Given the description of an element on the screen output the (x, y) to click on. 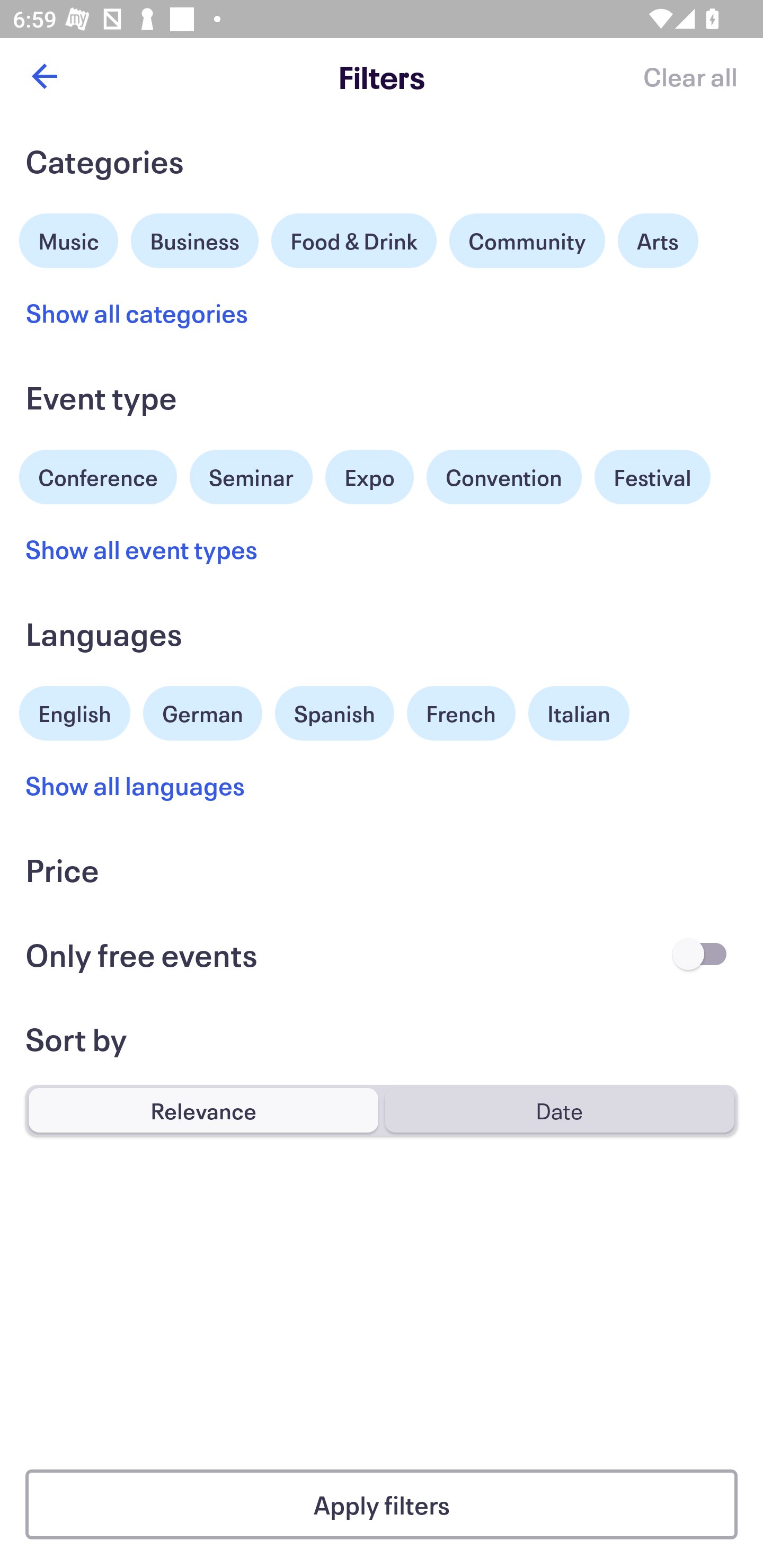
Back button (44, 75)
Clear all (690, 75)
Music (68, 238)
Business (194, 238)
Food & Drink (353, 240)
Community (527, 240)
Arts (658, 240)
Show all categories (136, 312)
Conference (98, 475)
Seminar (250, 477)
Expo (369, 477)
Convention (503, 477)
Festival (652, 477)
Show all event types (141, 548)
English (74, 710)
German (202, 710)
Spanish (334, 713)
French (460, 713)
Italian (578, 713)
Show all languages (135, 784)
Relevance (203, 1109)
Date (559, 1109)
Apply filters (381, 1504)
